Given the description of an element on the screen output the (x, y) to click on. 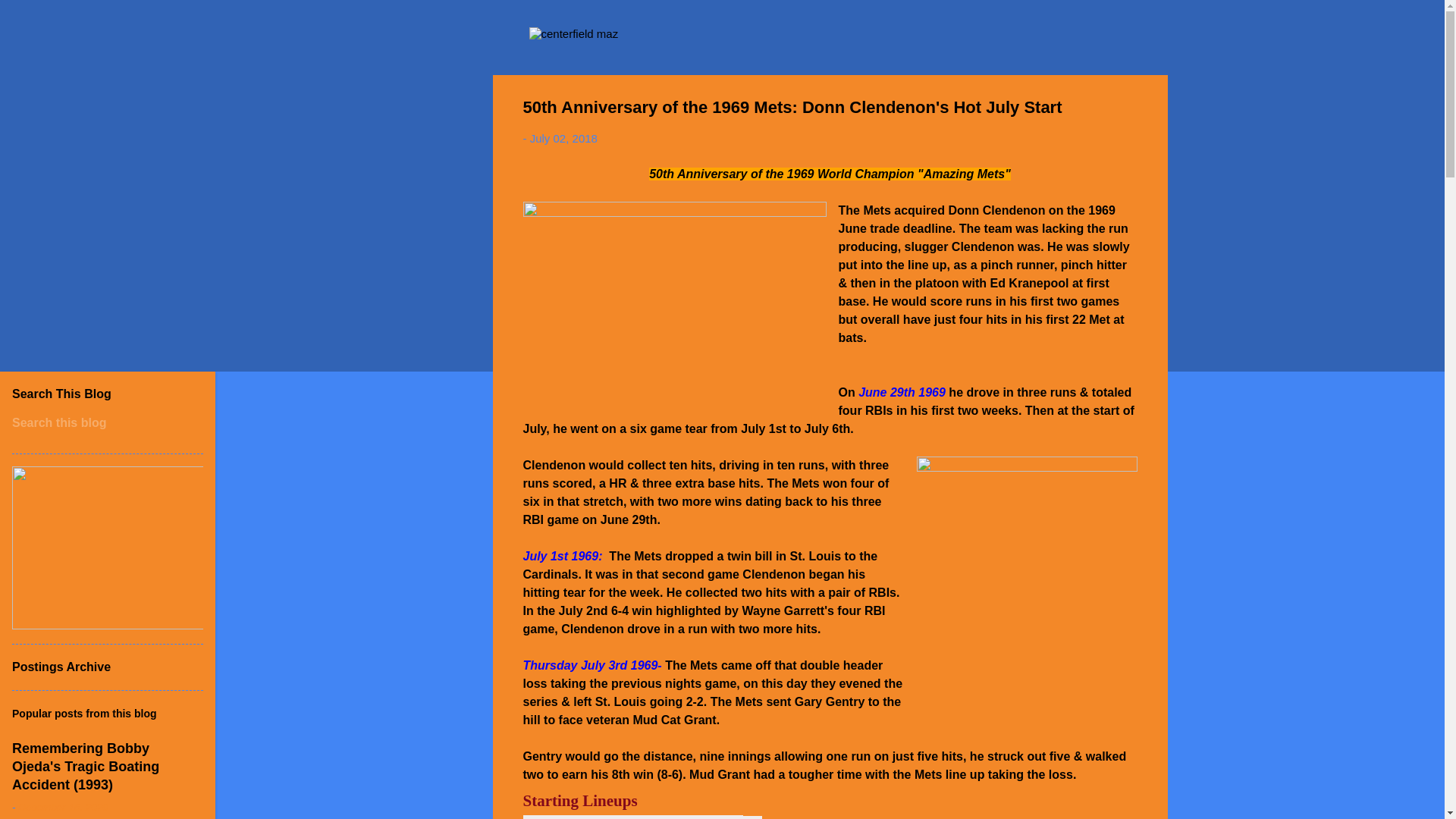
July 02, 2018 (562, 137)
permanent link (562, 137)
Search (29, 18)
